Given the description of an element on the screen output the (x, y) to click on. 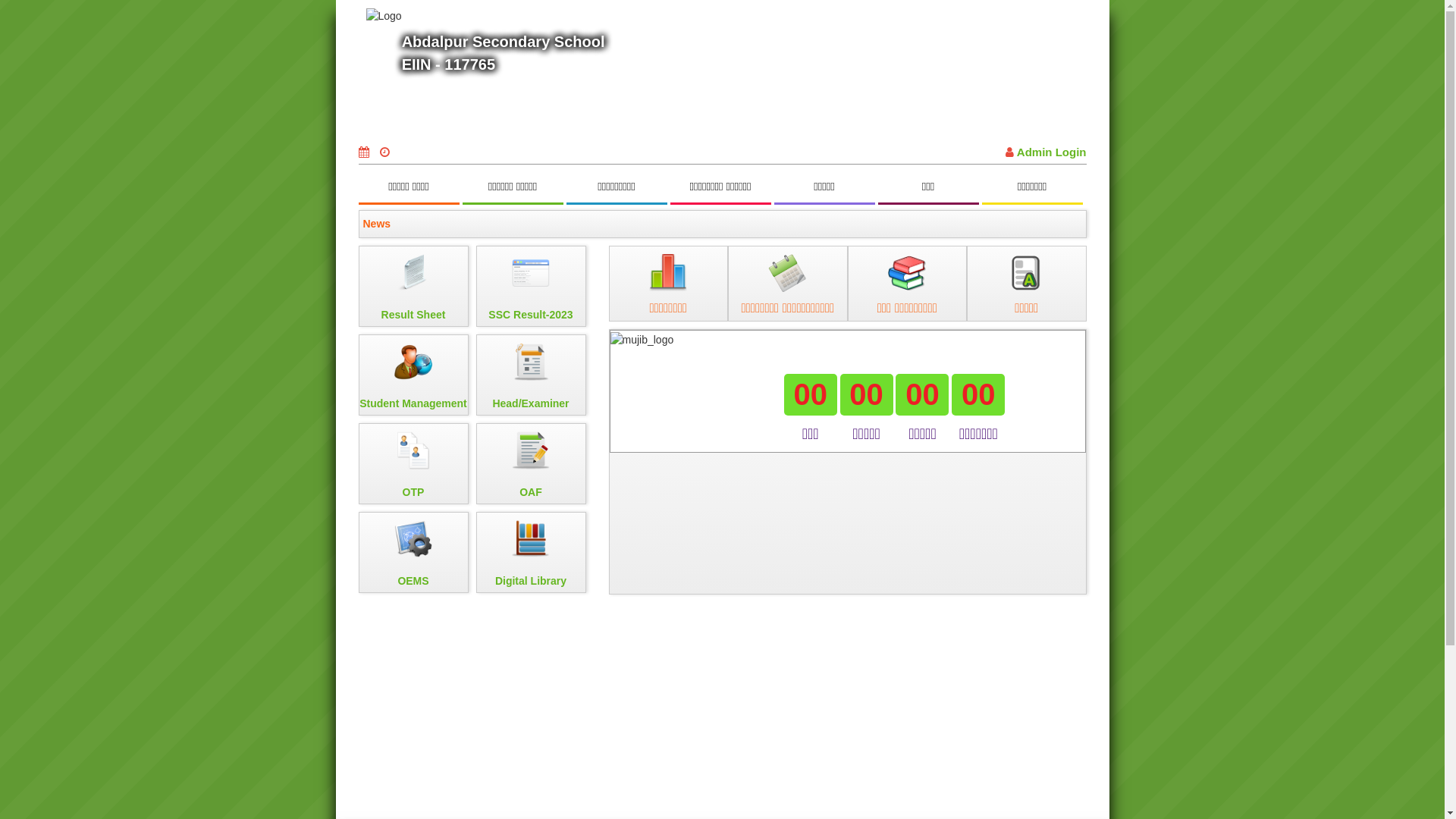
Digital Library Element type: text (531, 552)
Head/Examiner Element type: text (531, 374)
OAF Element type: text (531, 463)
OTP Element type: text (412, 463)
Student Management Element type: text (412, 374)
SSC Result-2023 Element type: text (531, 285)
OEMS Element type: text (412, 552)
Admin Login Element type: text (1045, 151)
Result Sheet Element type: text (412, 285)
